Given the description of an element on the screen output the (x, y) to click on. 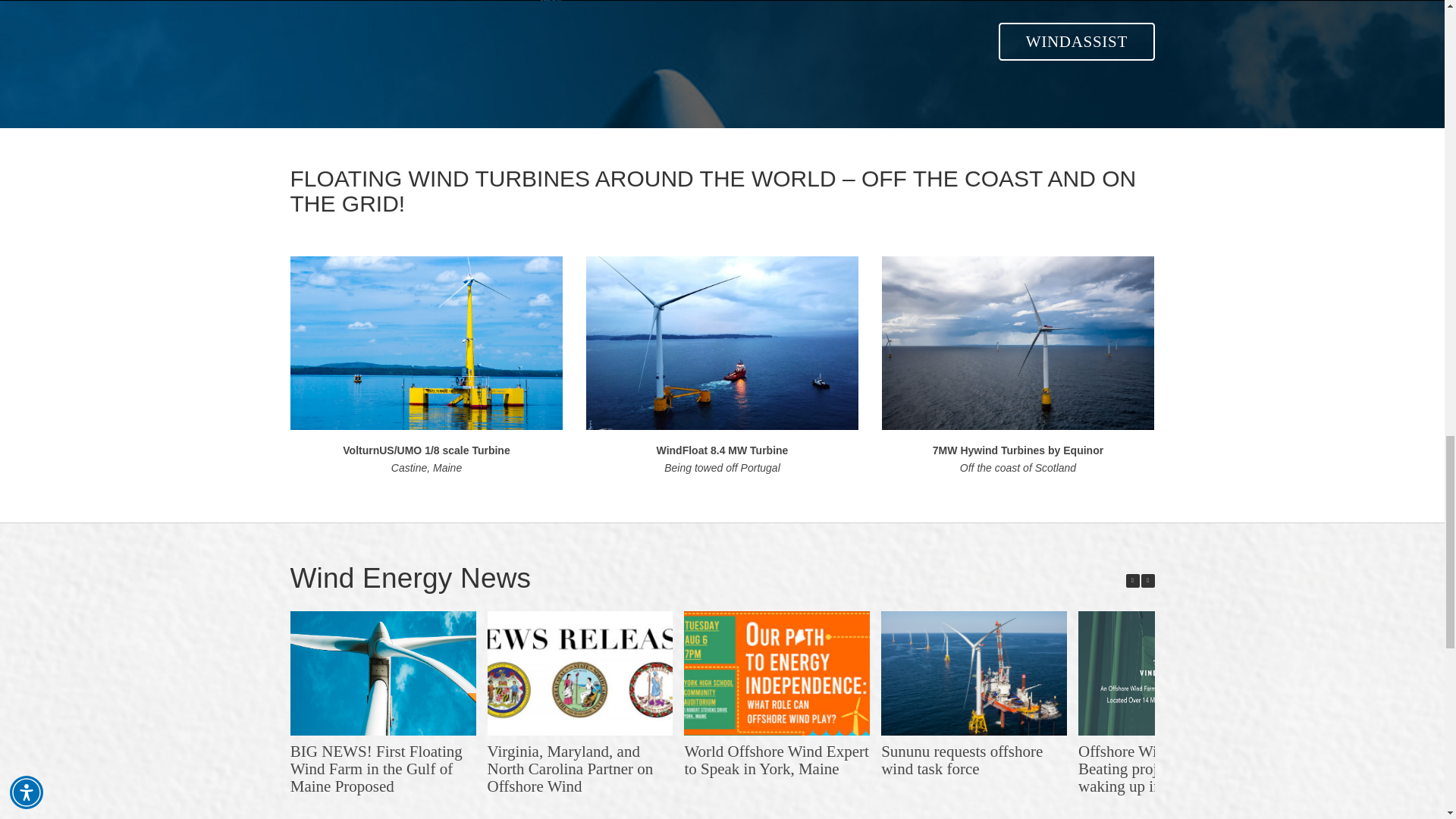
Next (1147, 581)
Previous (1131, 581)
